Given the description of an element on the screen output the (x, y) to click on. 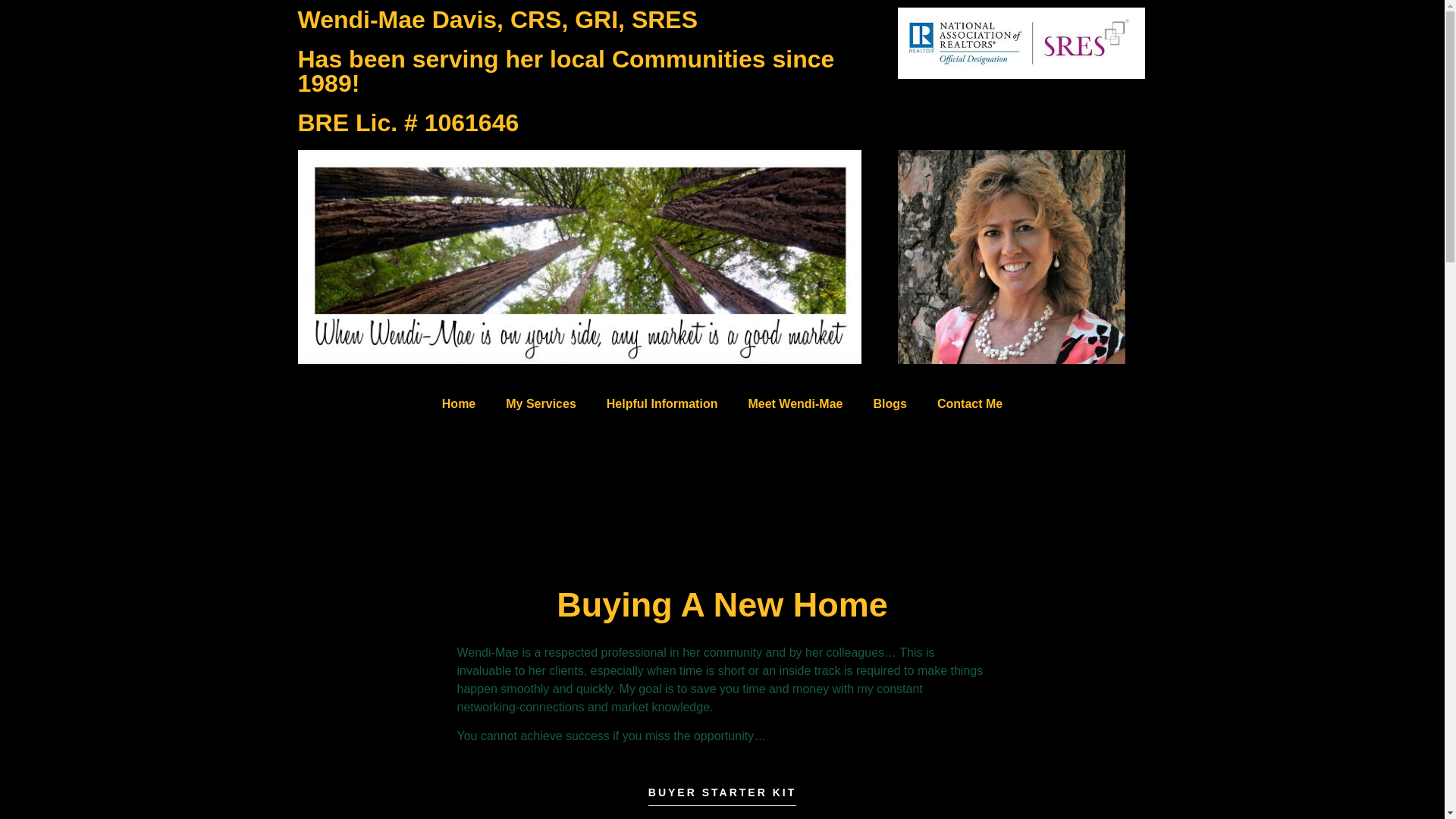
Helpful Information (662, 403)
Meet Wendi-Mae (794, 403)
Home (458, 403)
BUYER STARTER KIT (721, 796)
Blogs (890, 403)
Contact Me (969, 403)
My Services (540, 403)
